Given the description of an element on the screen output the (x, y) to click on. 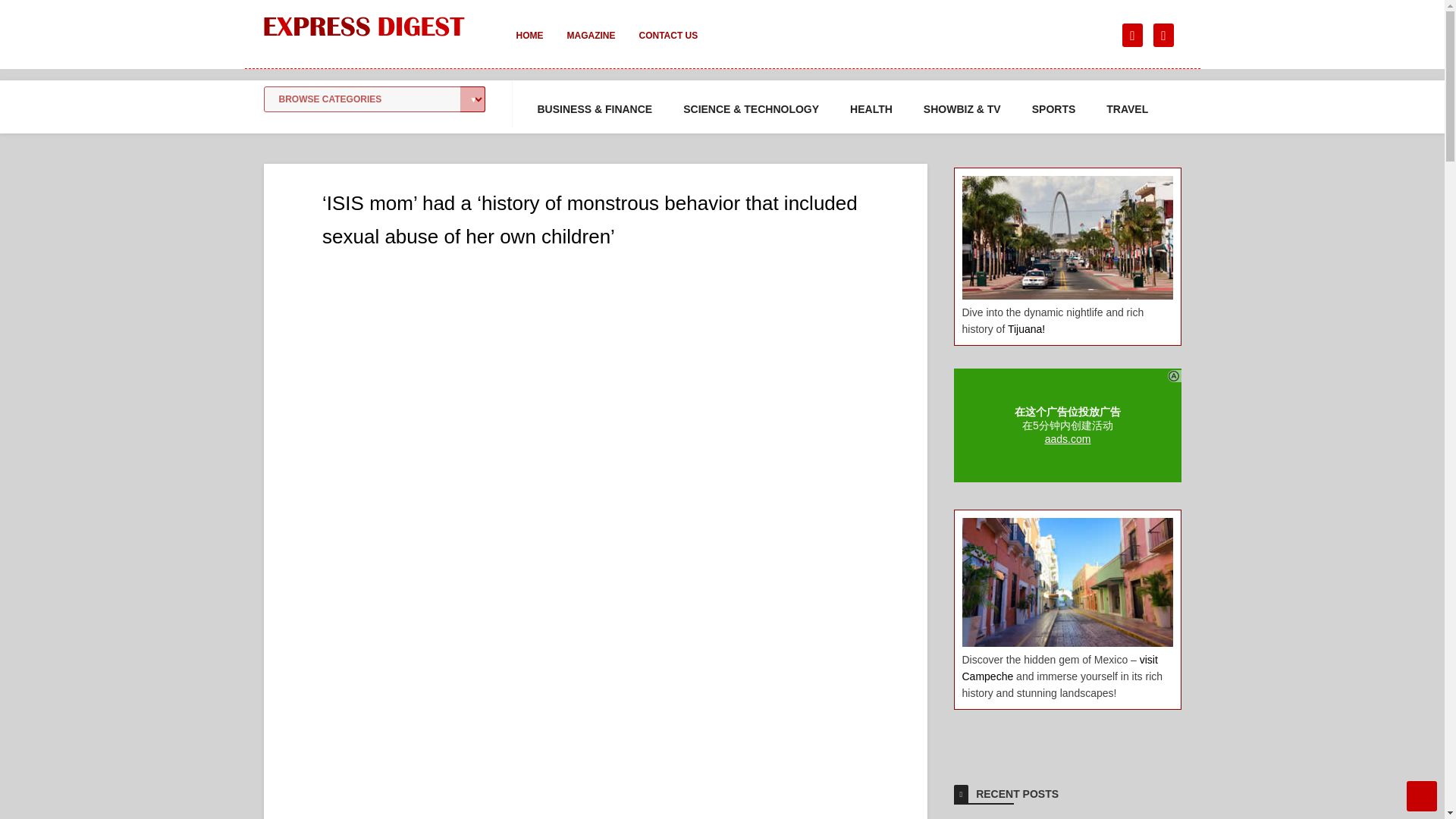
Tijuana! (1026, 328)
visit Campeche (1058, 667)
MAGAZINE (590, 45)
CONTACT US (667, 45)
TRAVEL (1127, 109)
HEALTH (871, 109)
SPORTS (1053, 109)
